Given the description of an element on the screen output the (x, y) to click on. 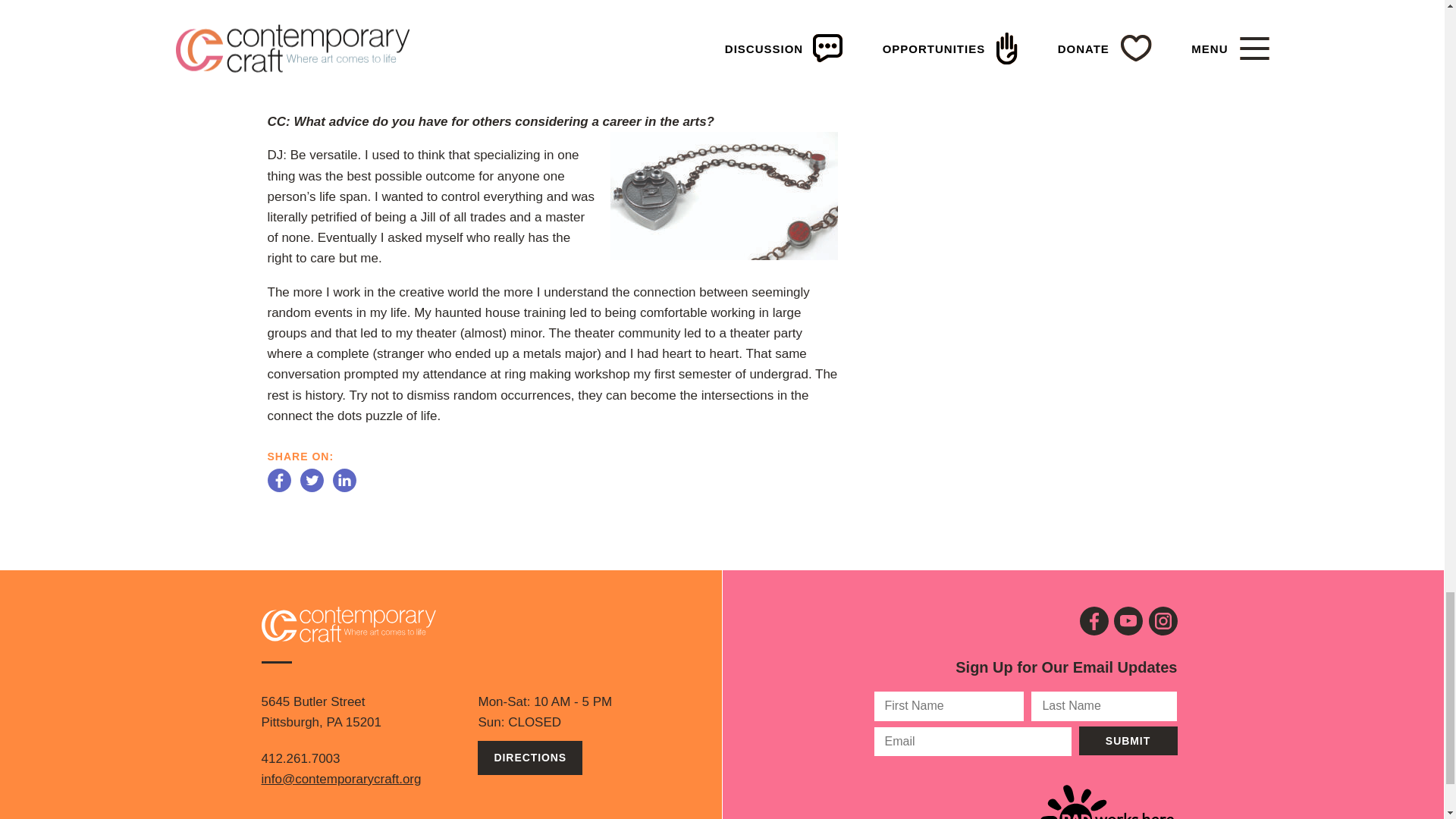
Submit (1127, 740)
